Given the description of an element on the screen output the (x, y) to click on. 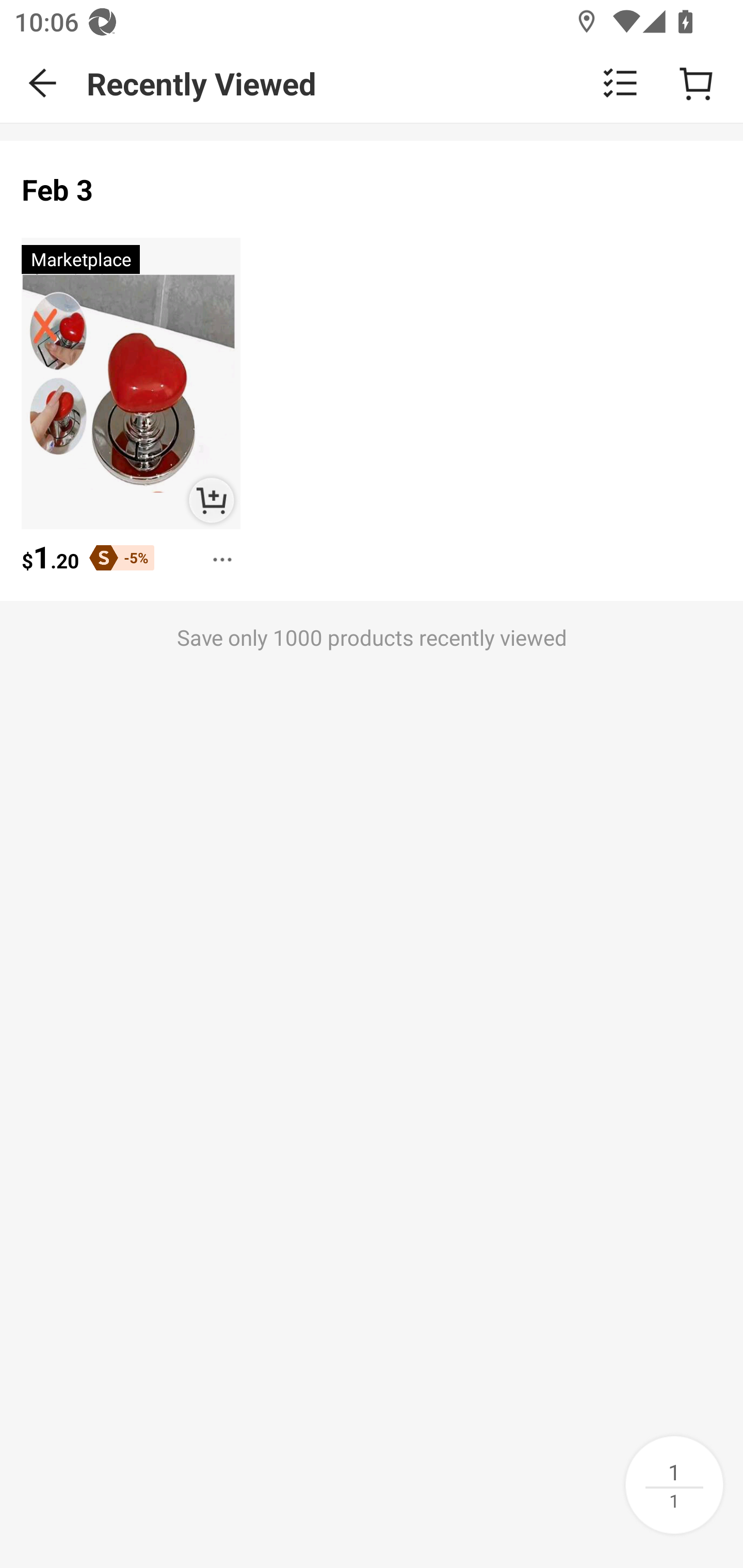
Recently Viewed change view (414, 82)
change view (620, 82)
BACK (43, 83)
Feb 3 (57, 189)
ADD TO CART (211, 500)
MORE (216, 553)
Save only 1000 products recently viewed (371, 680)
1 (674, 1484)
